Given the description of an element on the screen output the (x, y) to click on. 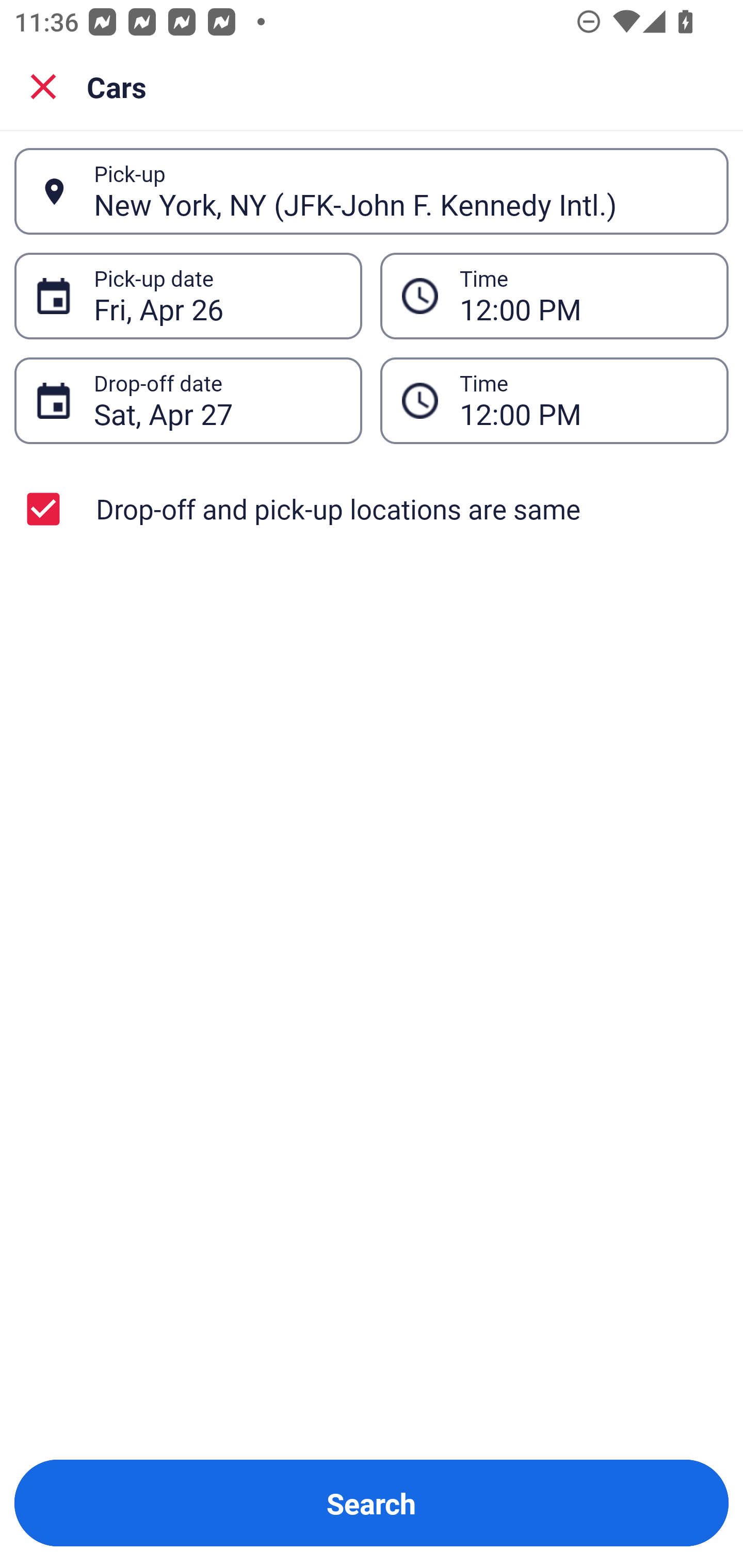
Close search screen (43, 86)
New York, NY (JFK-John F. Kennedy Intl.) Pick-up (371, 191)
New York, NY (JFK-John F. Kennedy Intl.) (399, 191)
Fri, Apr 26 Pick-up date (188, 295)
12:00 PM (554, 295)
Fri, Apr 26 (216, 296)
12:00 PM (582, 296)
Sat, Apr 27 Drop-off date (188, 400)
12:00 PM (554, 400)
Sat, Apr 27 (216, 400)
12:00 PM (582, 400)
Drop-off and pick-up locations are same (371, 508)
Search Button Search (371, 1502)
